Given the description of an element on the screen output the (x, y) to click on. 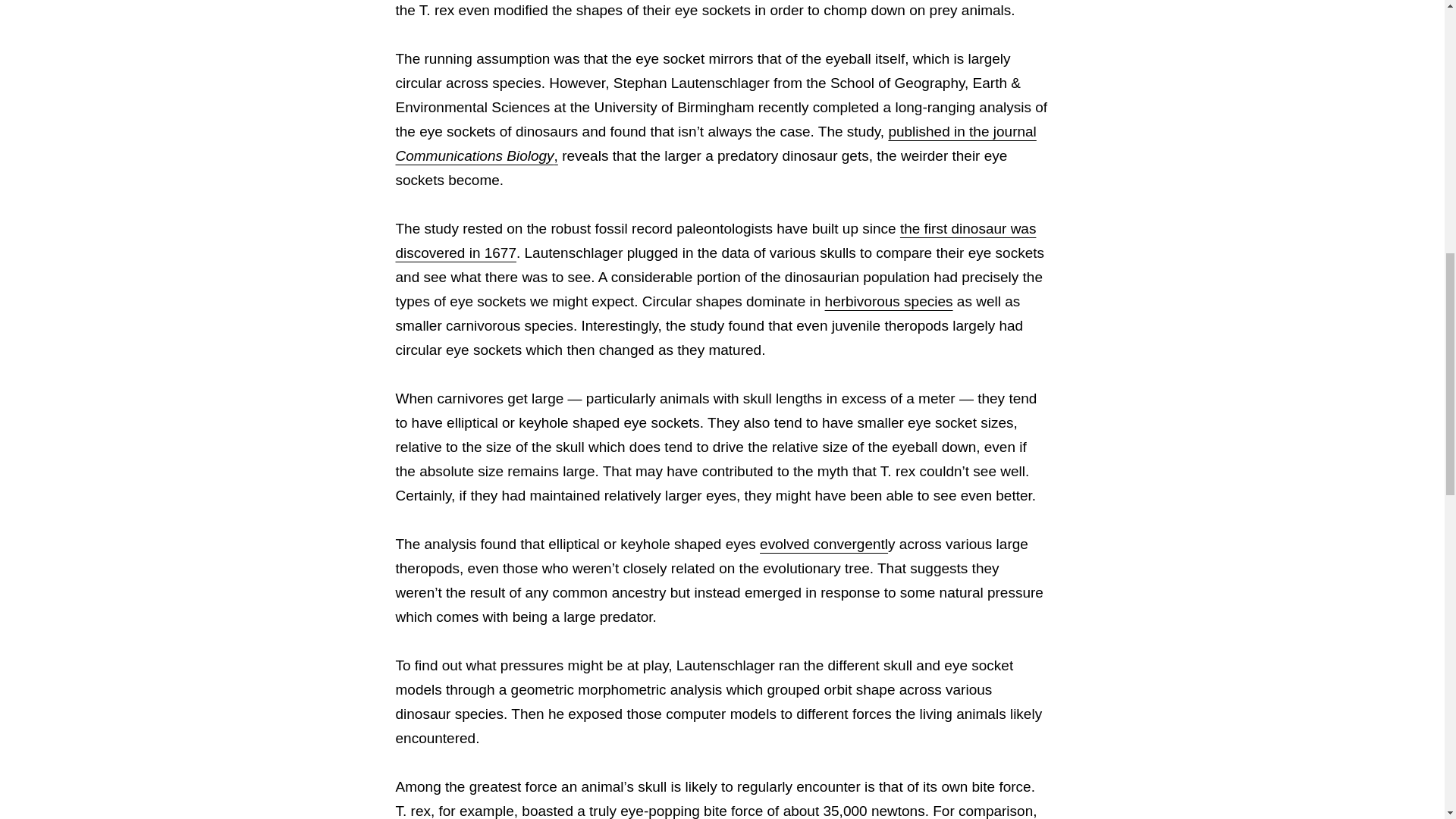
herbivorous species (889, 301)
the first dinosaur was discovered in 1677 (716, 240)
evolved convergentl (824, 544)
published in the journal Communications Biology, (716, 143)
